Given the description of an element on the screen output the (x, y) to click on. 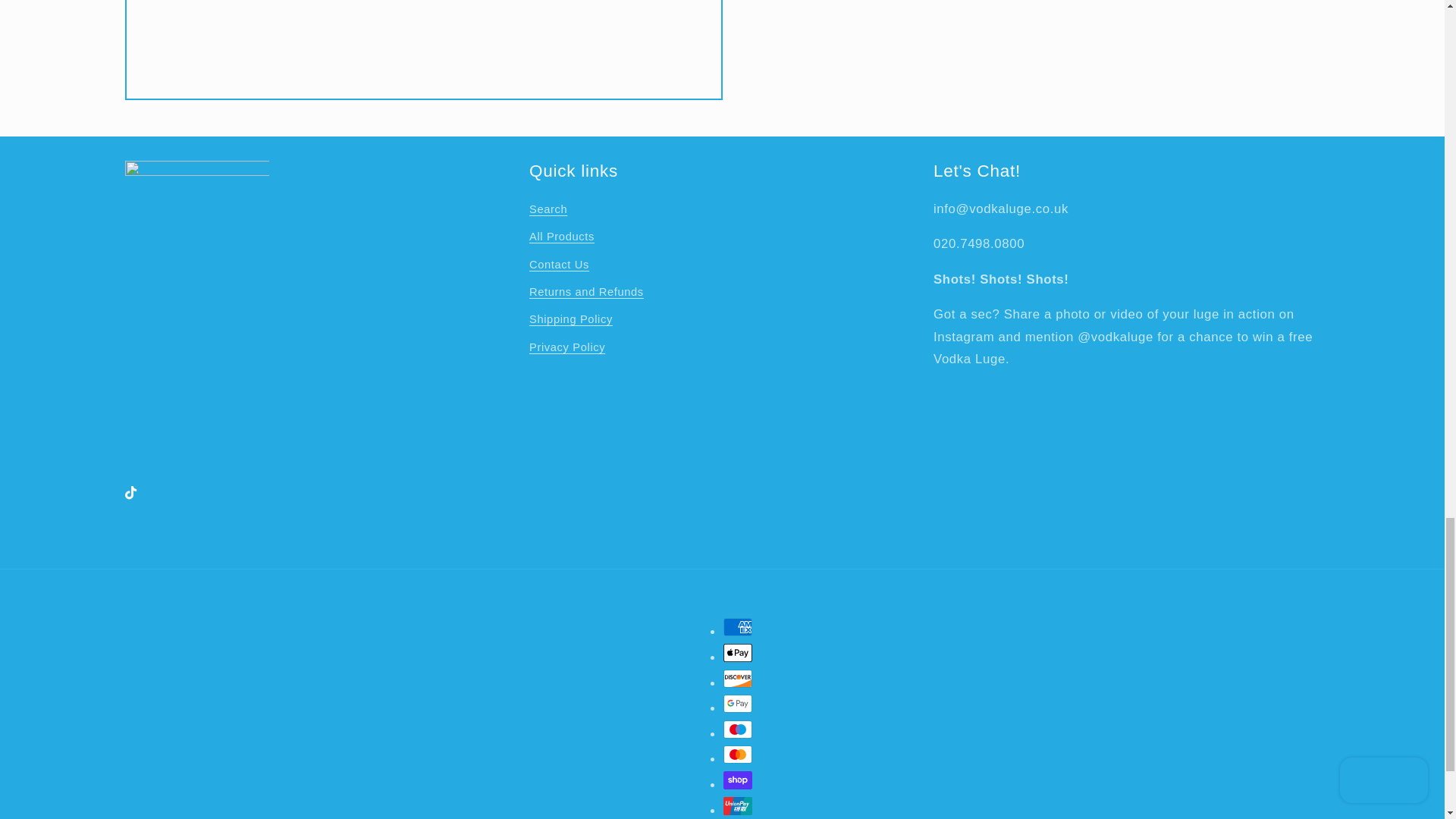
Apple Pay (737, 652)
Discover (737, 678)
American Express (737, 627)
